Given the description of an element on the screen output the (x, y) to click on. 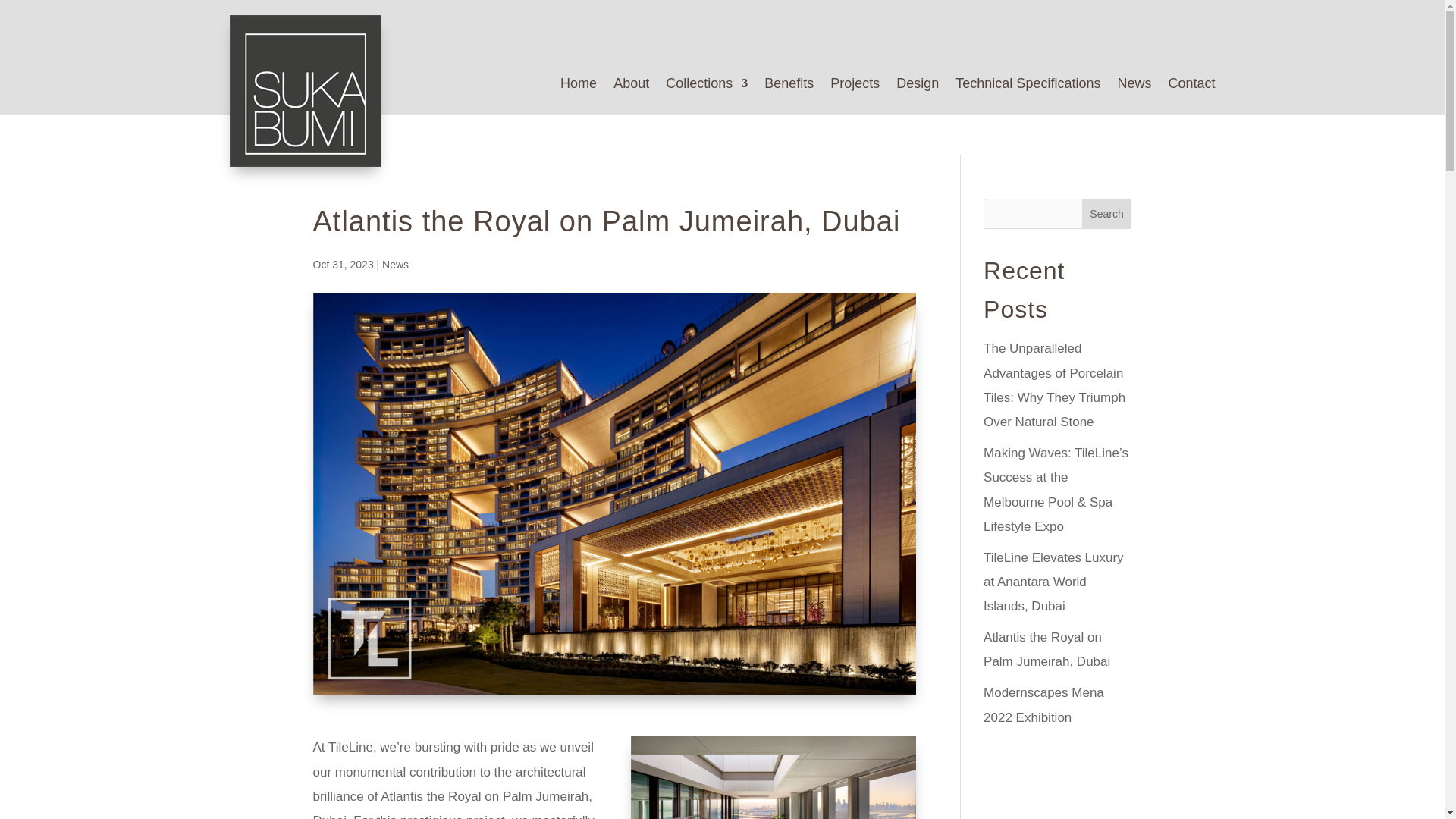
Projects (854, 86)
About (630, 86)
Search (1106, 214)
200x200 (304, 91)
Technical Specifications (1027, 86)
News (1133, 86)
Atlantis the Royal (772, 777)
Home (578, 86)
